Given the description of an element on the screen output the (x, y) to click on. 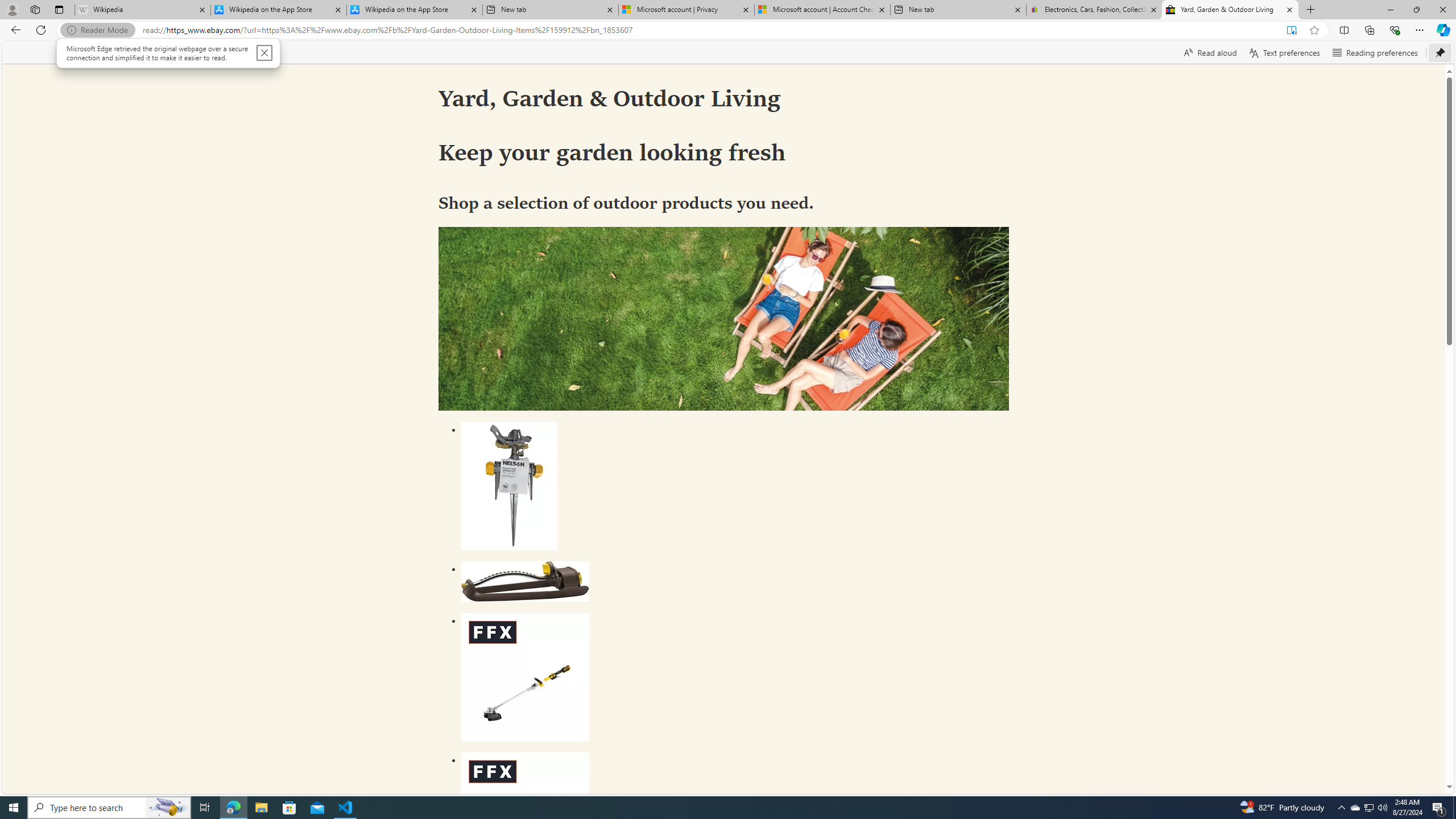
Elevate your outdoors (723, 318)
Unpin toolbar (1439, 52)
Action Center, 1 new notification (1439, 807)
